Given the description of an element on the screen output the (x, y) to click on. 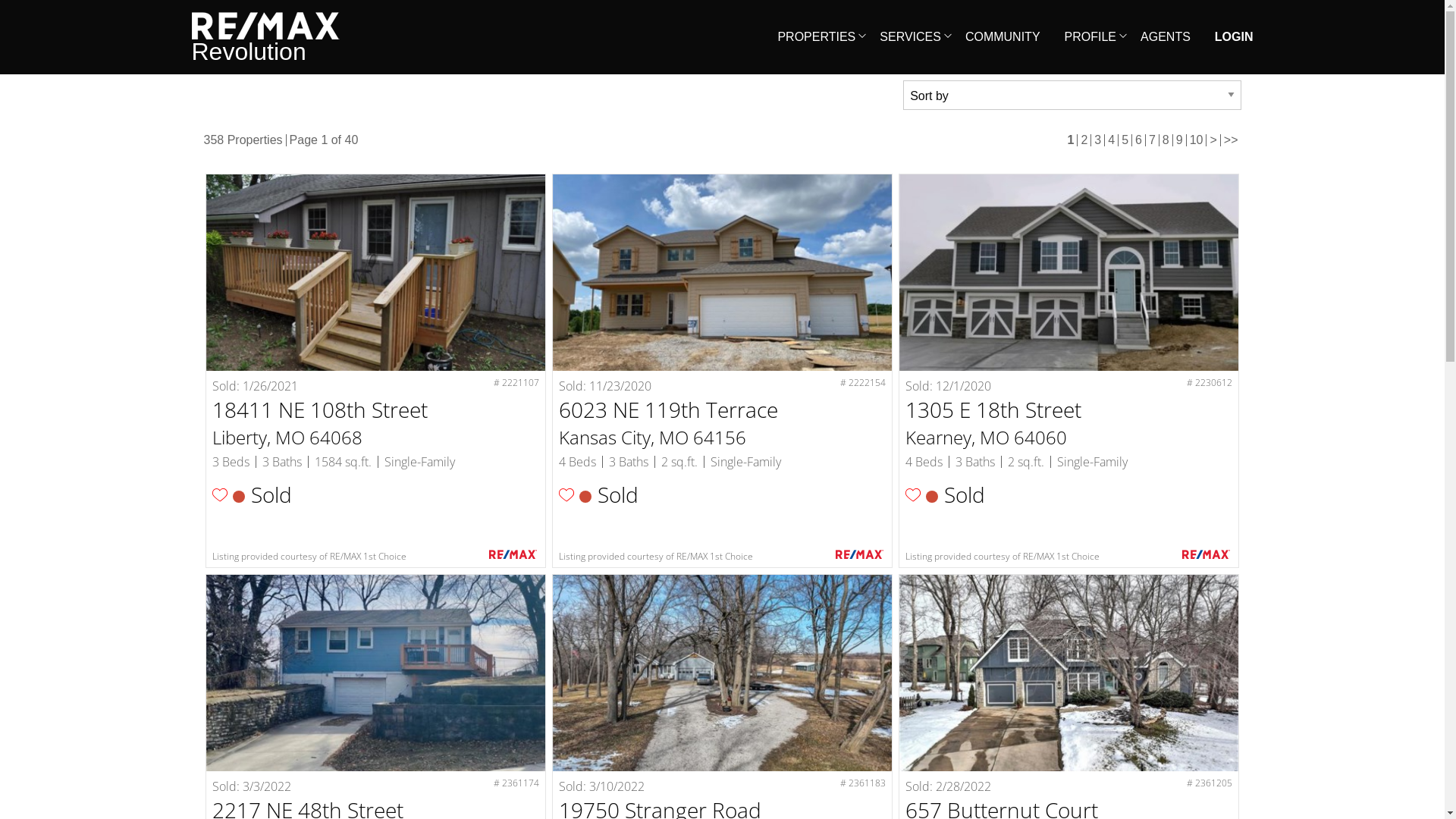
RE/MAX Kansas-Missouri Logo Element type: hover (264, 25)
COMMUNITY Element type: text (1002, 37)
1305 E 18th Street  Element type: hover (1068, 272)
>> Element type: text (1230, 139)
6 Element type: text (1138, 139)
657 Butternut Court  Element type: hover (1068, 672)
8 Element type: text (1165, 139)
PROPERTIES Element type: text (816, 37)
10 Element type: text (1196, 139)
LOGIN Element type: text (1233, 36)
3 Element type: text (1097, 139)
9 Element type: text (1179, 139)
1 Element type: text (1070, 139)
18411 NE 108th Street  Element type: hover (375, 272)
PROFILE Element type: text (1090, 37)
2 Element type: text (1083, 139)
4 Element type: text (1110, 139)
19750 Stranger Road  Element type: hover (721, 672)
6023 NE 119th Terrace  Element type: hover (721, 272)
7 Element type: text (1151, 139)
Revolution Element type: text (264, 37)
AGENTS Element type: text (1165, 37)
2217 NE 48th Street  Element type: hover (375, 672)
> Element type: text (1212, 139)
SERVICES Element type: text (910, 37)
5 Element type: text (1124, 139)
